Given the description of an element on the screen output the (x, y) to click on. 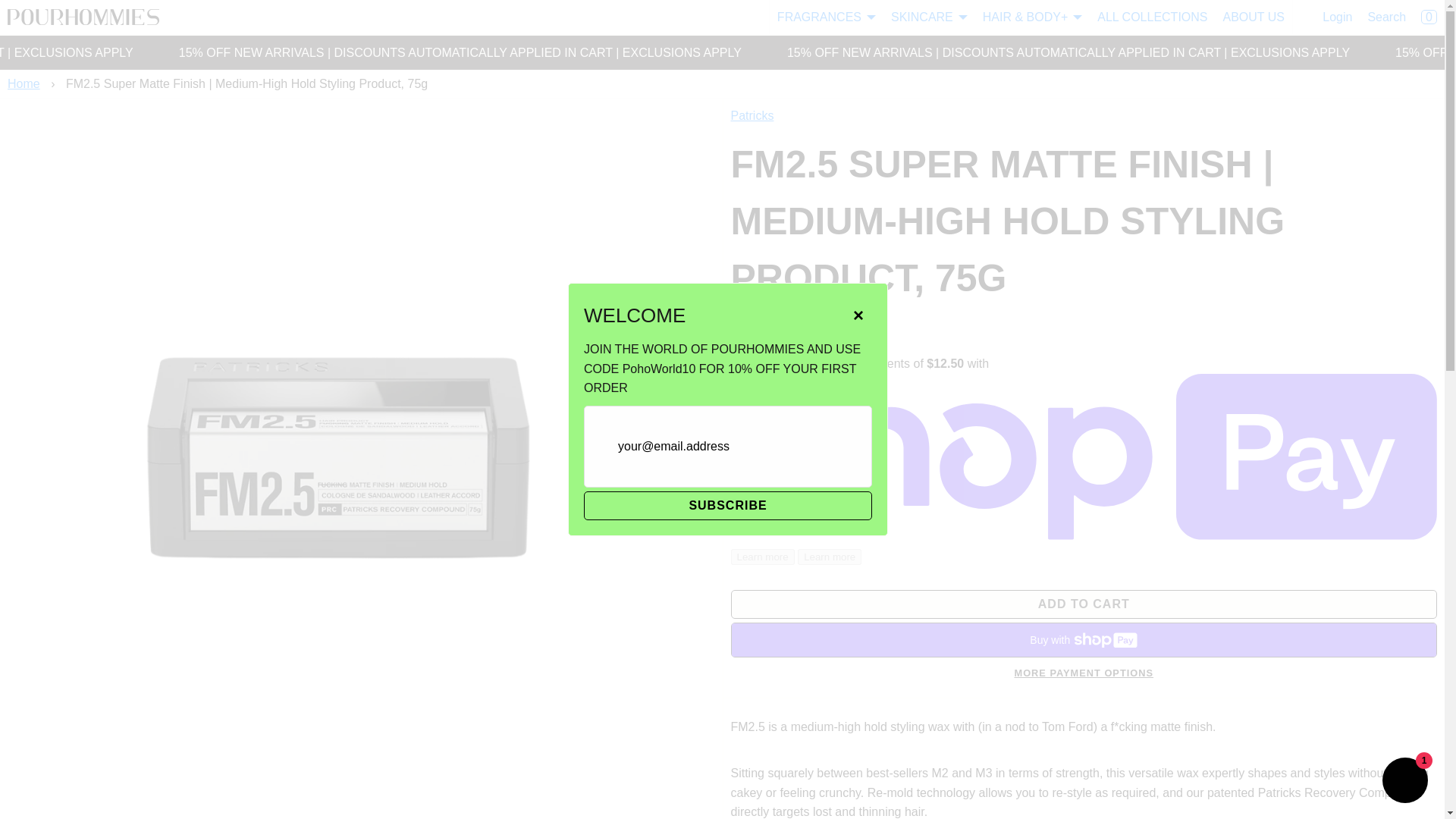
Home (25, 83)
Shopify online store chat (1404, 781)
